Given the description of an element on the screen output the (x, y) to click on. 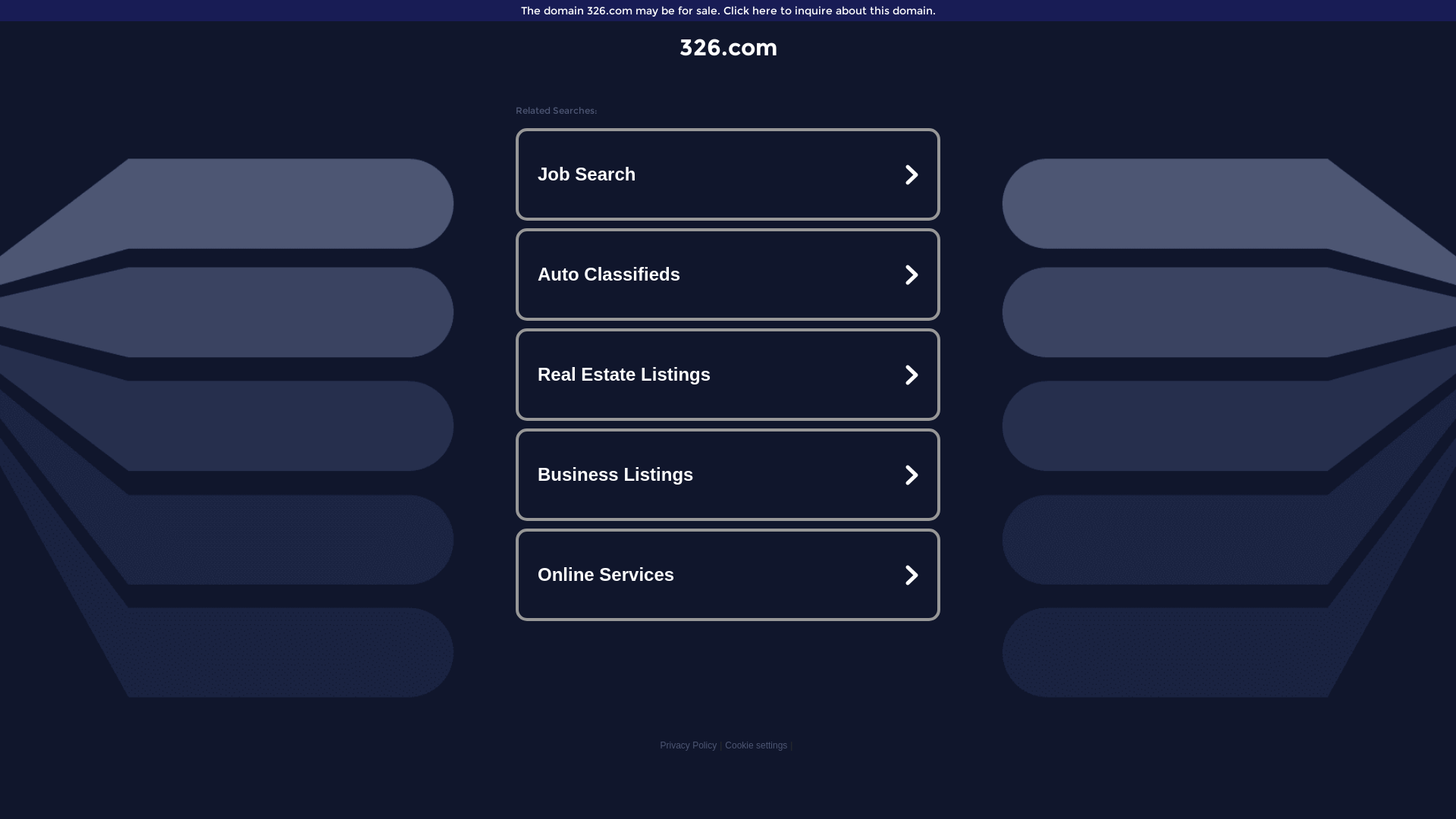
Online Services Element type: text (727, 574)
Business Listings Element type: text (727, 474)
326.com Element type: text (728, 47)
Job Search Element type: text (727, 174)
Privacy Policy Element type: text (687, 745)
Real Estate Listings Element type: text (727, 374)
Cookie settings Element type: text (755, 745)
Auto Classifieds Element type: text (727, 274)
